Given the description of an element on the screen output the (x, y) to click on. 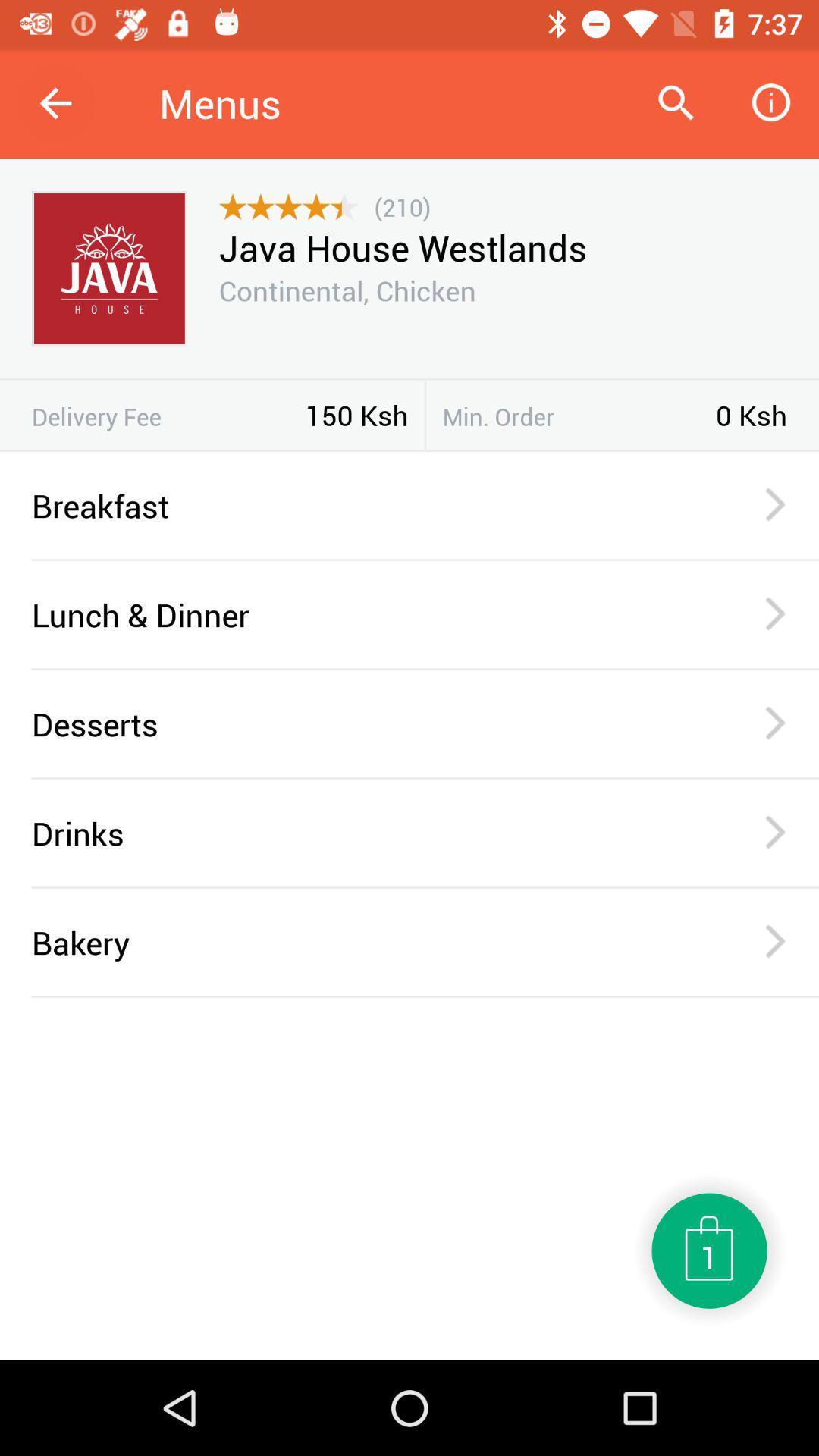
jump until the delivery fee icon (168, 416)
